Given the description of an element on the screen output the (x, y) to click on. 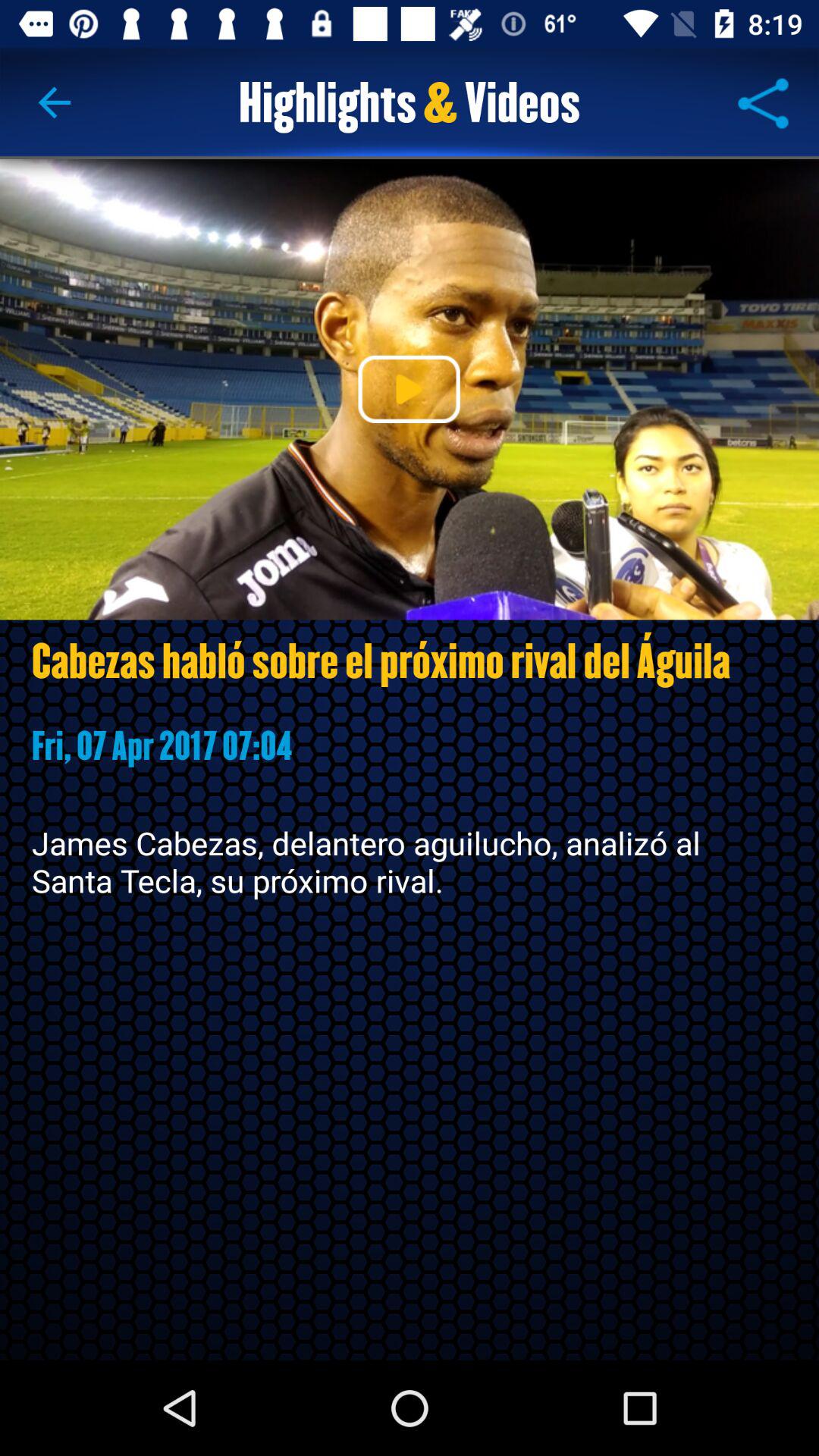
play media file (409, 389)
